Given the description of an element on the screen output the (x, y) to click on. 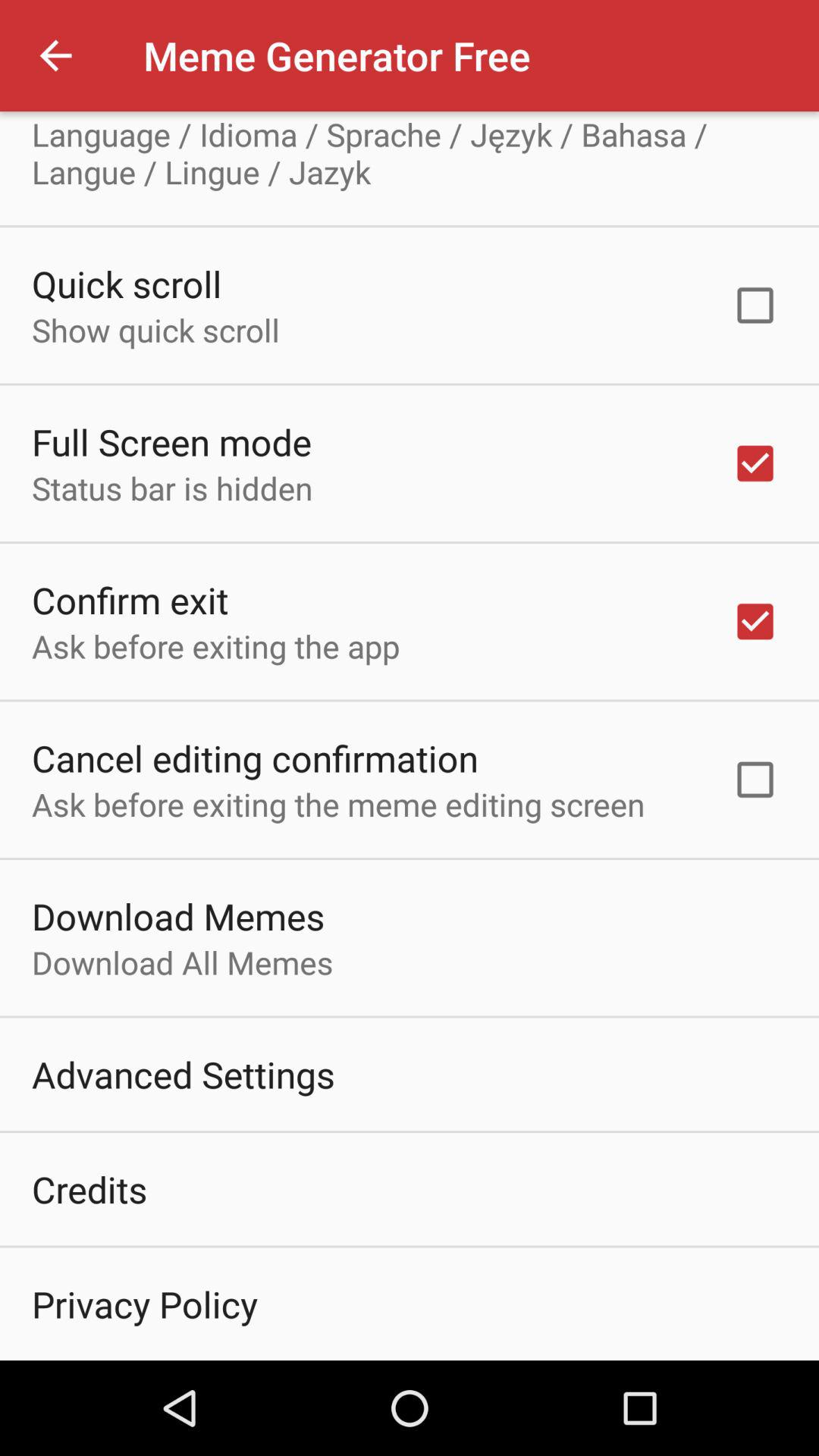
turn on advanced settings (182, 1073)
